Given the description of an element on the screen output the (x, y) to click on. 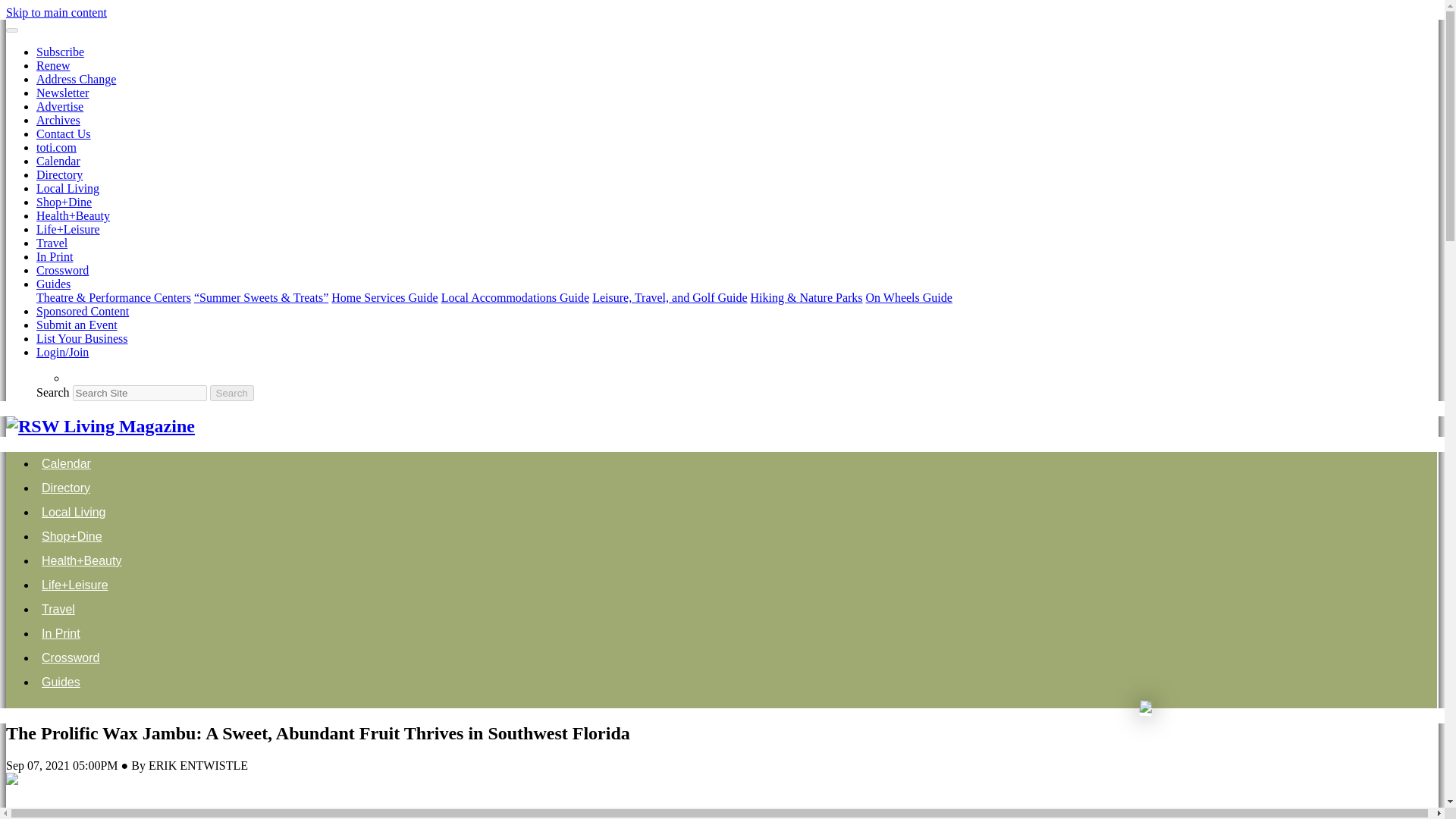
Local Living (74, 512)
List Your Business (82, 338)
Crossword (62, 269)
Subscribe (60, 51)
Travel (51, 242)
Submit an Event (76, 324)
Local Living (67, 187)
Calendar (58, 160)
Sponsored Content (82, 310)
Archives (58, 119)
